Given the description of an element on the screen output the (x, y) to click on. 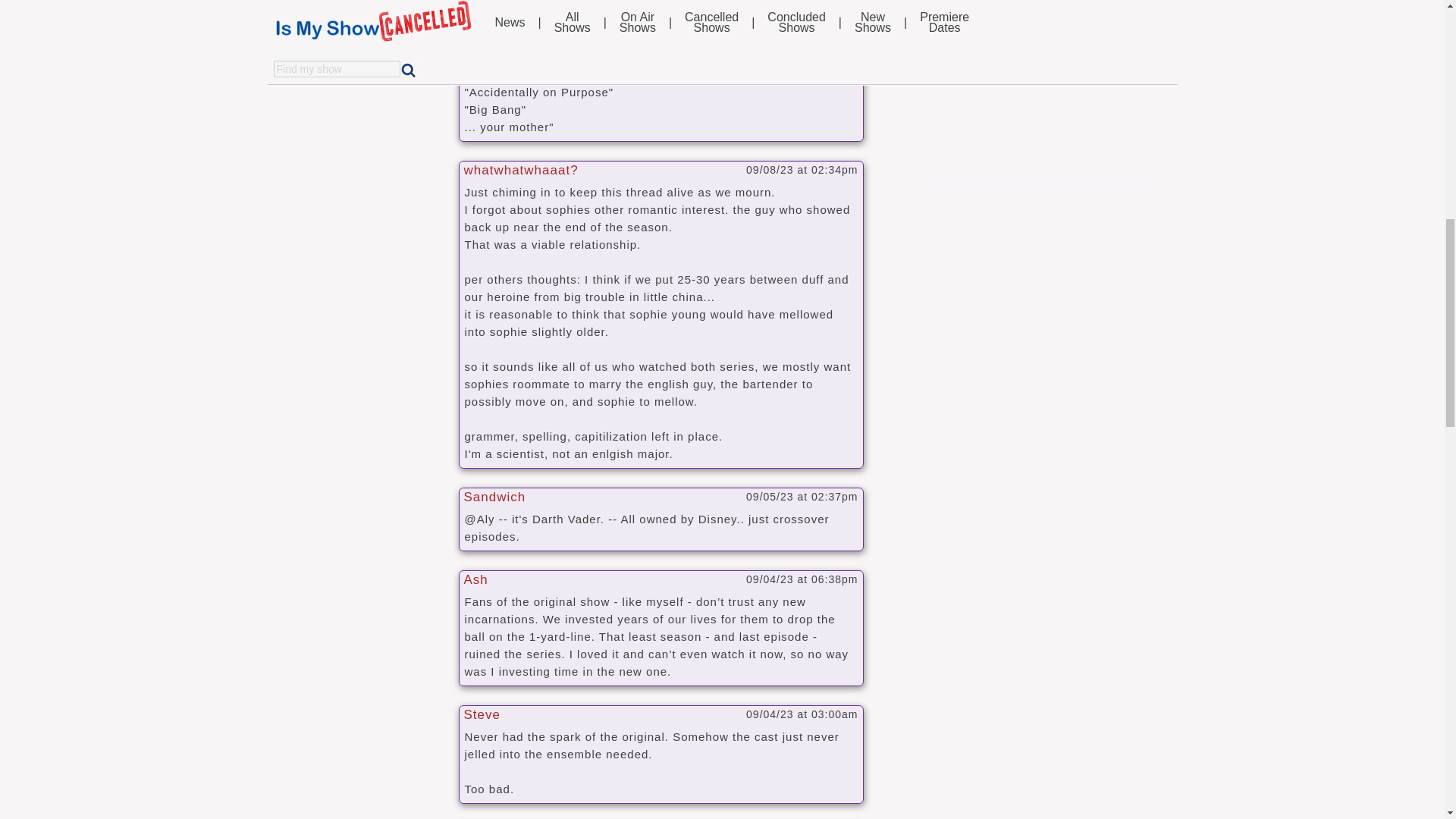
Tien Tran (372, 4)
Suraj Sharma (368, 21)
